Given the description of an element on the screen output the (x, y) to click on. 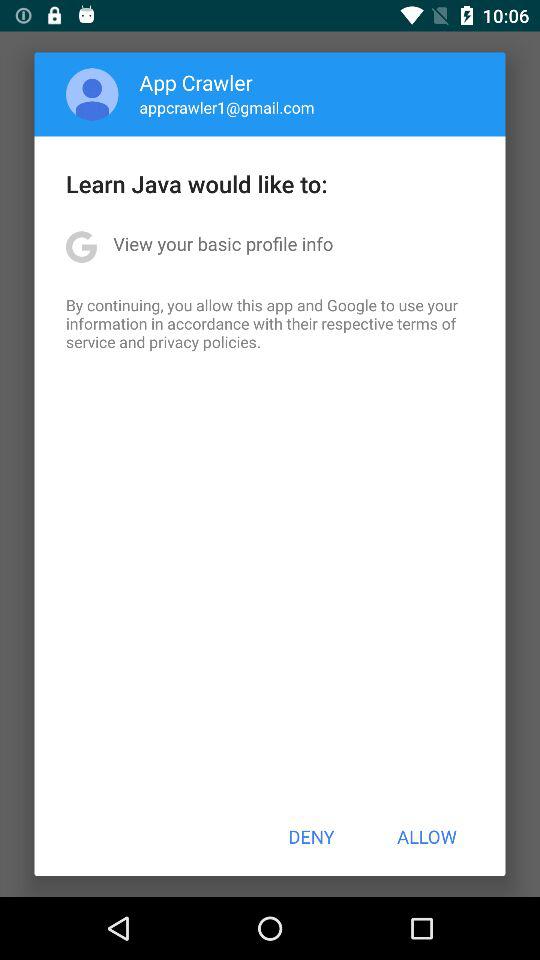
select the app above the learn java would icon (92, 94)
